Given the description of an element on the screen output the (x, y) to click on. 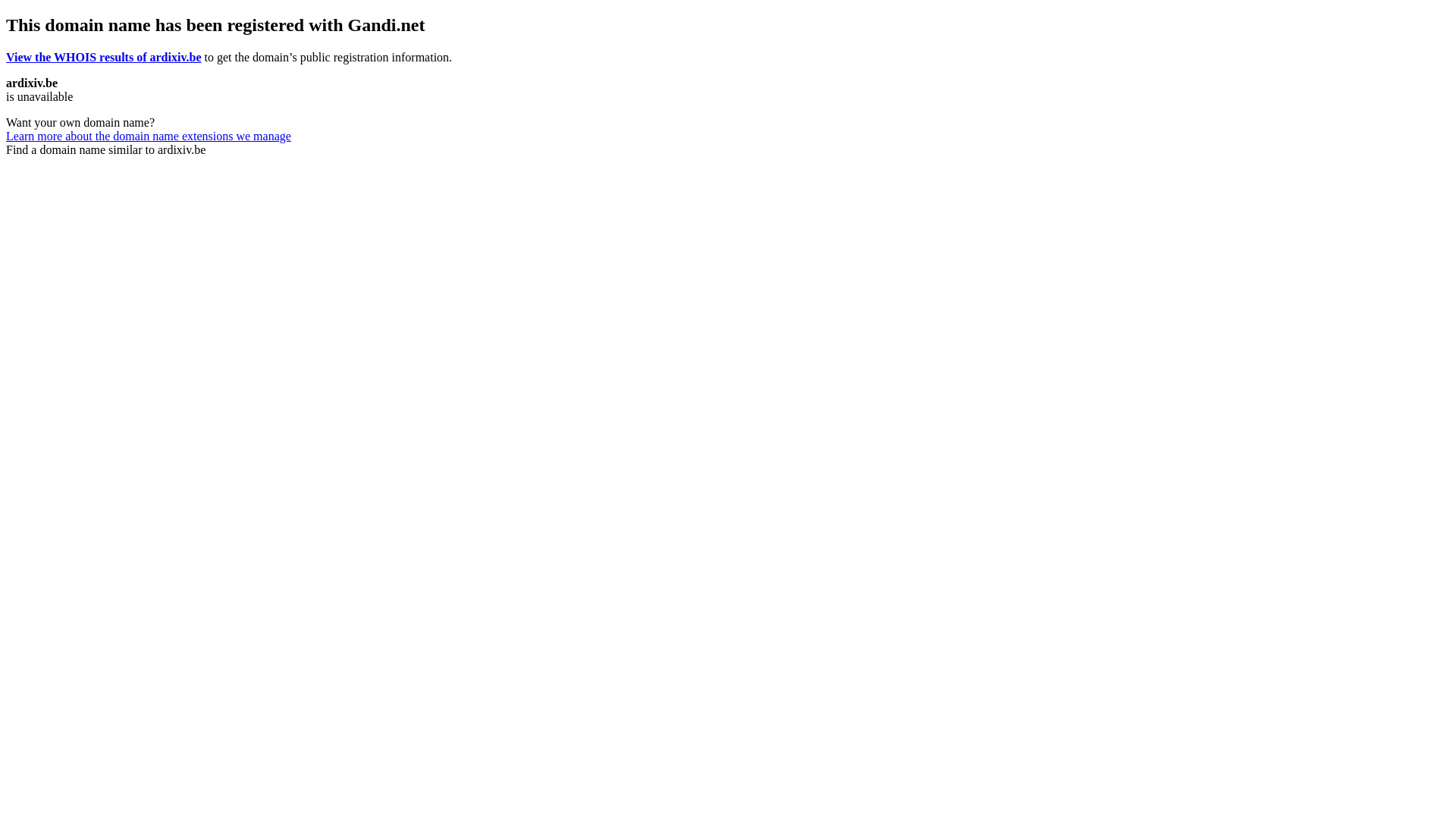
View the WHOIS results of ardixiv.be Element type: text (103, 56)
Find a domain name similar to ardixiv.be Element type: text (105, 149)
Learn more about the domain name extensions we manage Element type: text (148, 135)
